Given the description of an element on the screen output the (x, y) to click on. 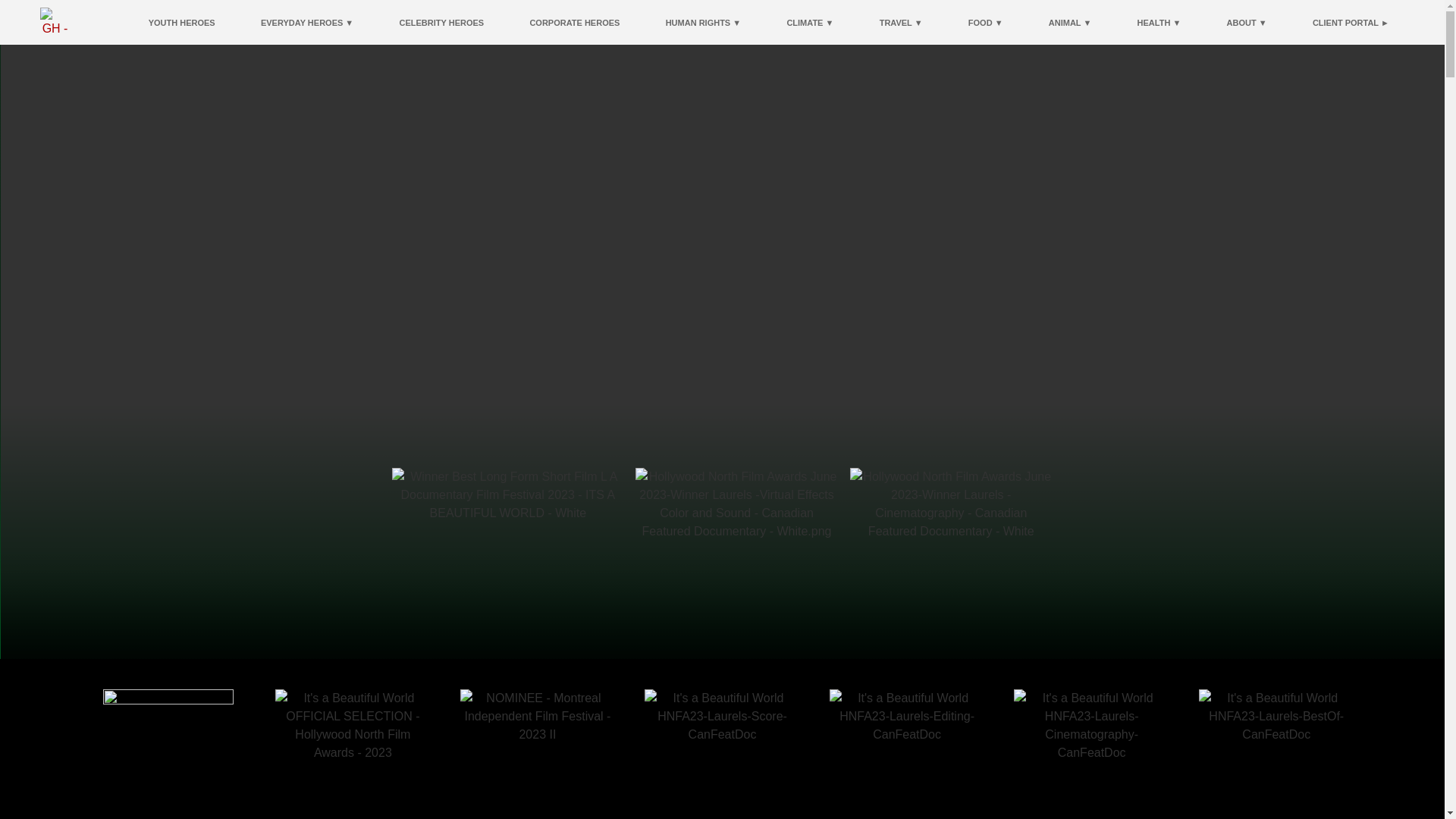
YOUTH HEROES (181, 22)
CORPORATE HEROES (574, 22)
CELEBRITY HEROES (440, 22)
